Given the description of an element on the screen output the (x, y) to click on. 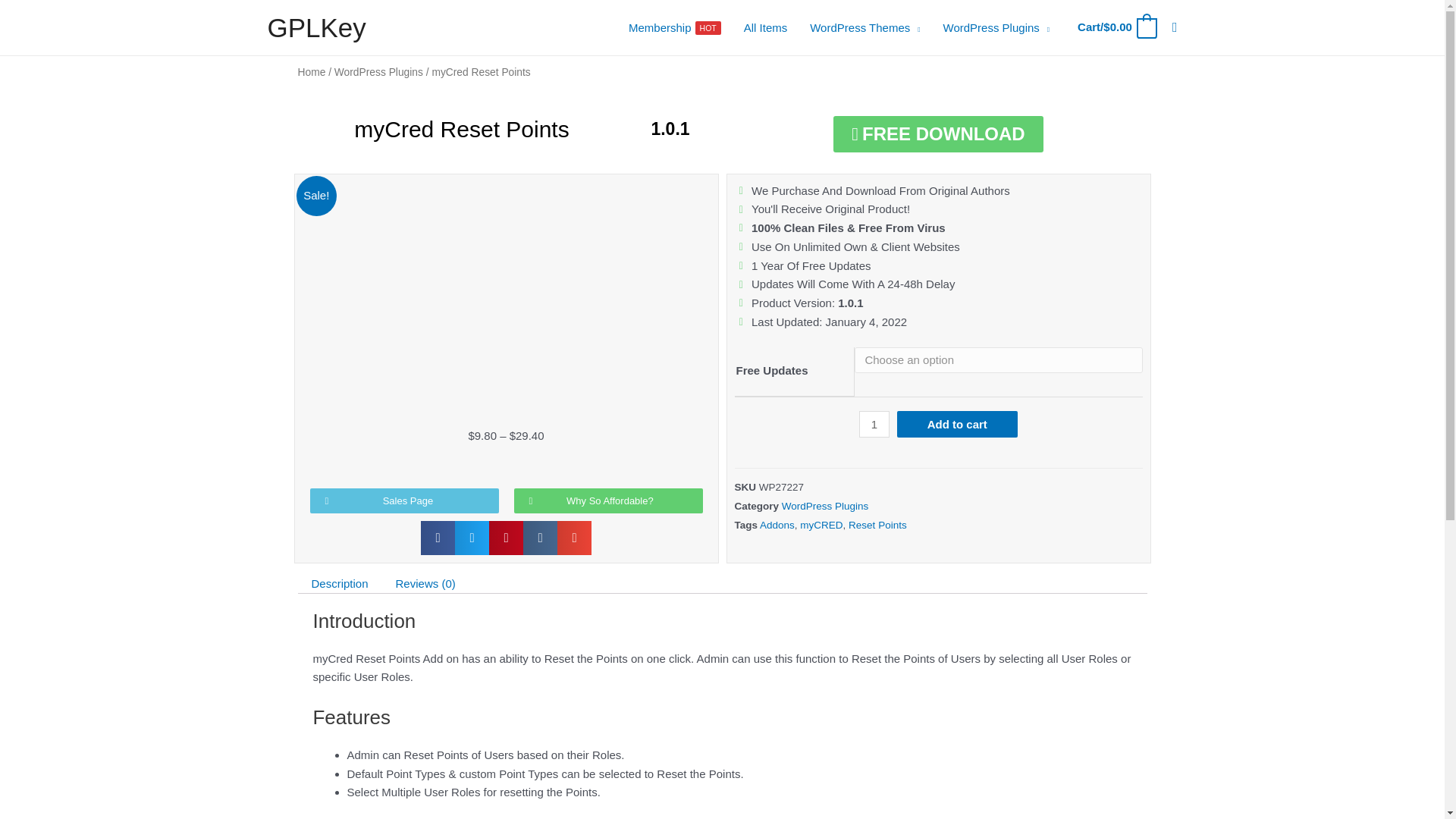
GPLKey (315, 27)
All Items (765, 27)
1 (873, 424)
WordPress Plugins (996, 27)
WordPress Themes (674, 27)
